Given the description of an element on the screen output the (x, y) to click on. 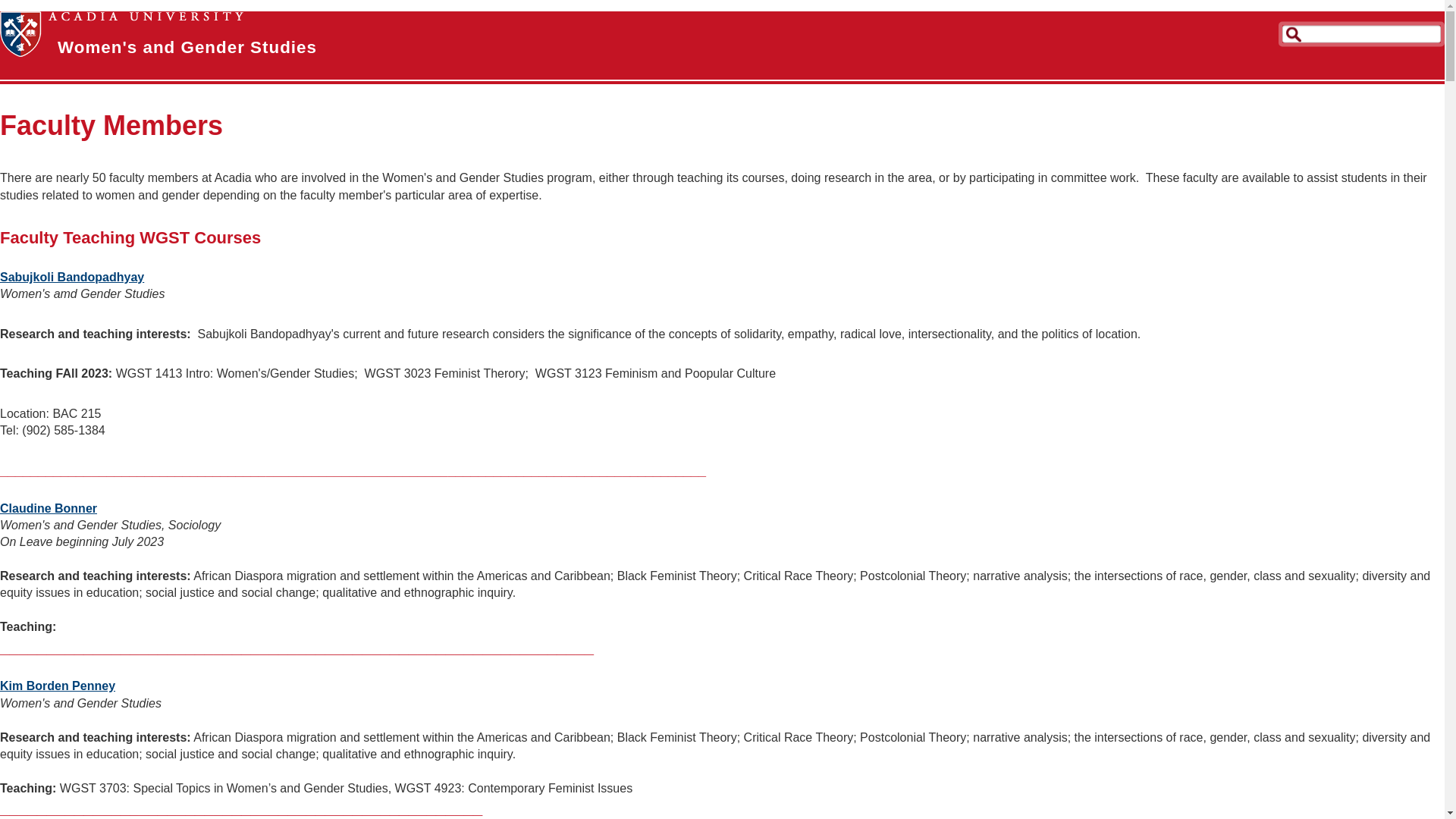
Sabujkoli Bandopadhyay Element type: text (72, 276)
Claudine Bonner Element type: text (48, 508)
Women's and Gender Studies Element type: text (186, 46)
Kim Borden Penney Element type: text (57, 685)
